Given the description of an element on the screen output the (x, y) to click on. 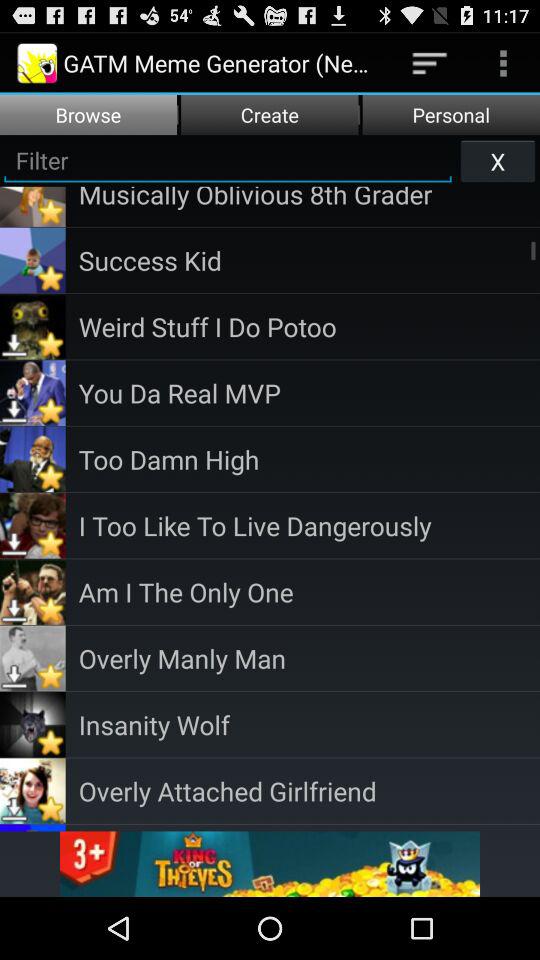
scroll until insanity wolf item (309, 724)
